Given the description of an element on the screen output the (x, y) to click on. 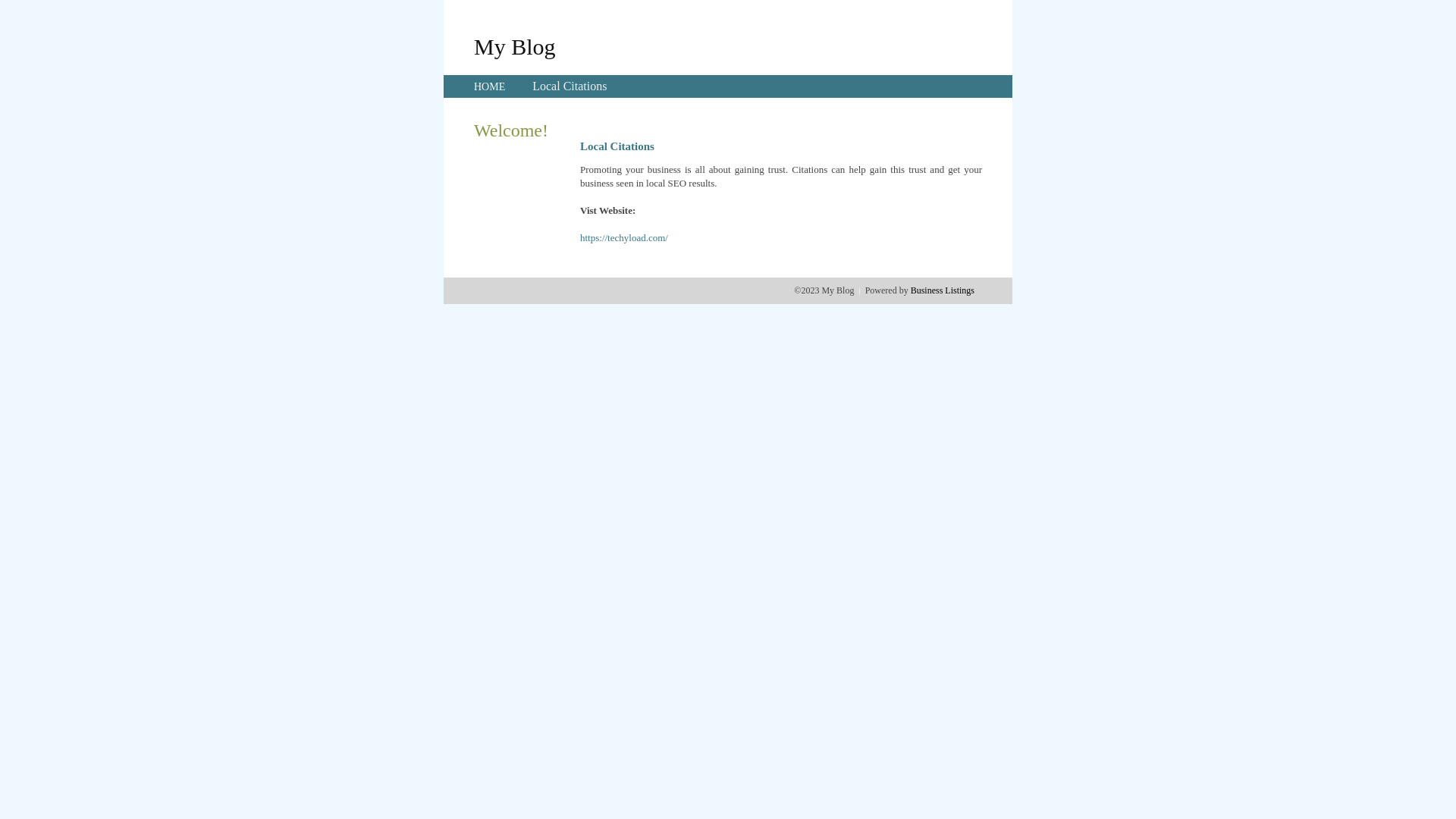
Business Listings Element type: text (942, 290)
Local Citations Element type: text (569, 85)
https://techyload.com/ Element type: text (624, 237)
HOME Element type: text (489, 86)
My Blog Element type: text (514, 46)
